Given the description of an element on the screen output the (x, y) to click on. 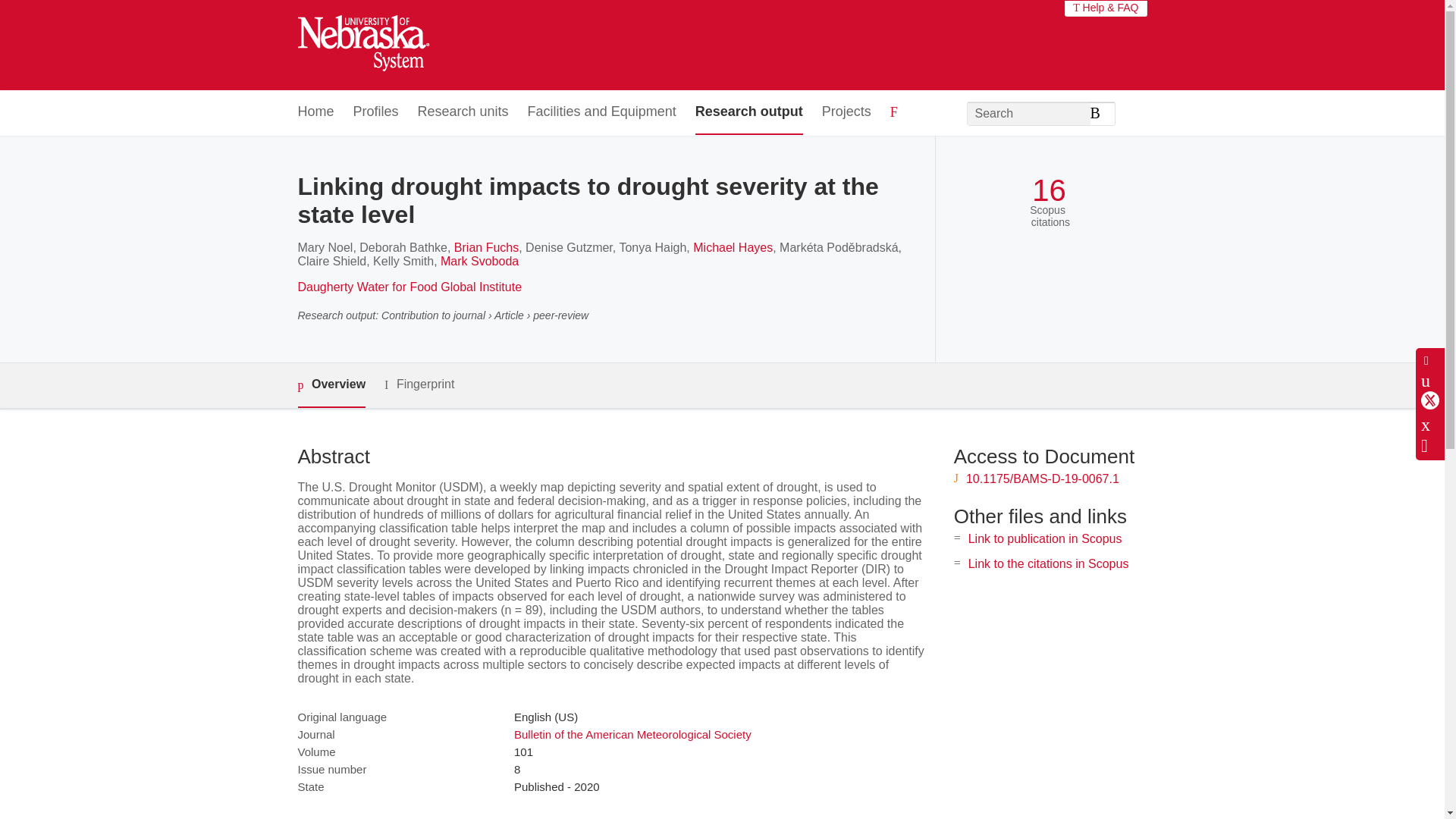
Projects (846, 112)
Fingerprint (419, 384)
Bulletin of the American Meteorological Society (632, 734)
Link to the citations in Scopus (1048, 563)
Research output (749, 112)
Link to publication in Scopus (1045, 538)
Research Nebraska Home (363, 45)
Research units (462, 112)
Profiles (375, 112)
Daugherty Water for Food Global Institute (409, 286)
Michael Hayes (733, 246)
Brian Fuchs (486, 246)
Facilities and Equipment (602, 112)
Overview (331, 385)
